Given the description of an element on the screen output the (x, y) to click on. 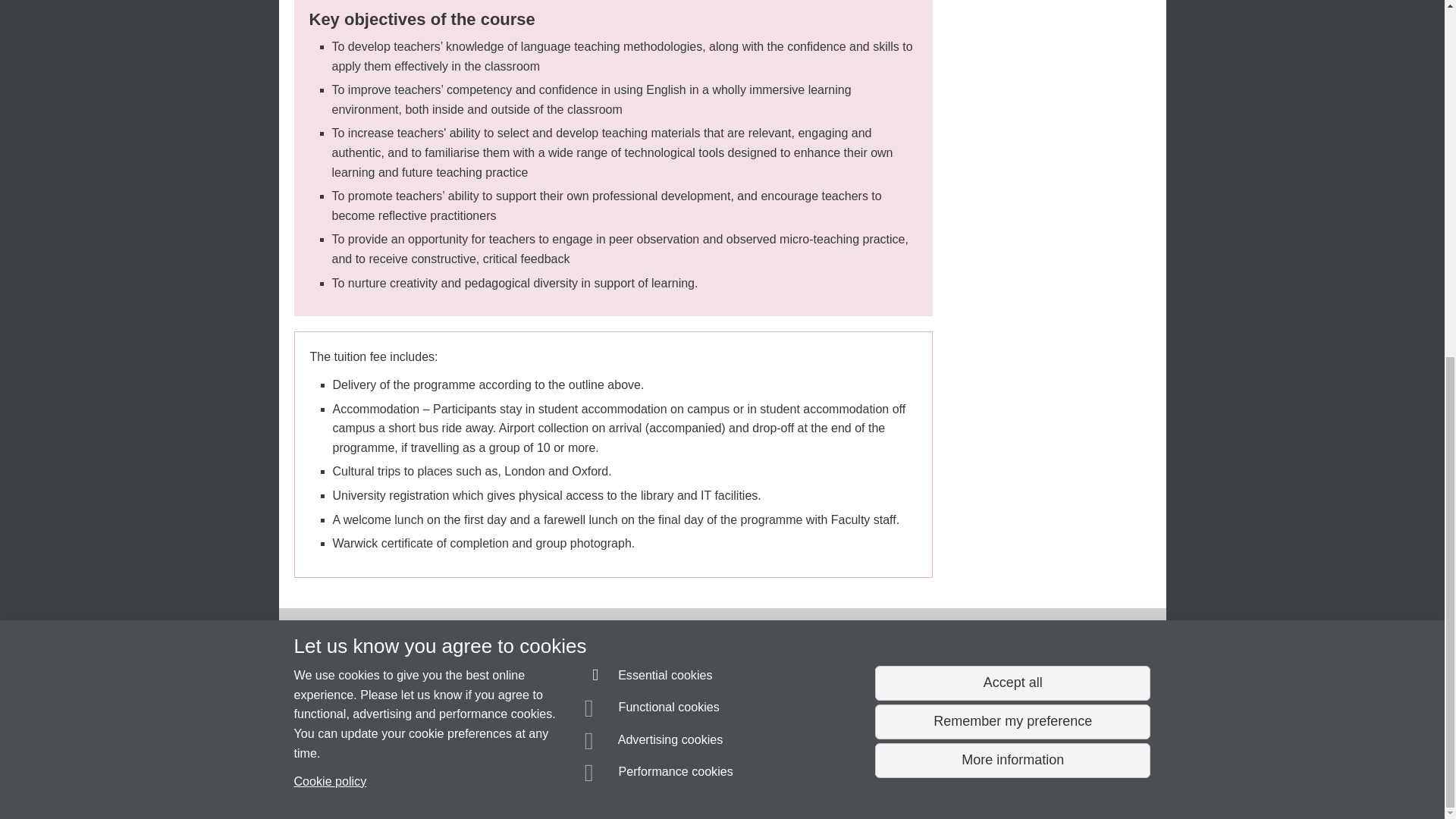
Copyright Statement (514, 780)
Twitter (1116, 646)
Privacy notice (673, 780)
Facebook (1144, 646)
Sitebuilder (365, 780)
More information about SiteBuilder (365, 780)
Katie Barlow (377, 751)
Information about cookies (467, 780)
